Given the description of an element on the screen output the (x, y) to click on. 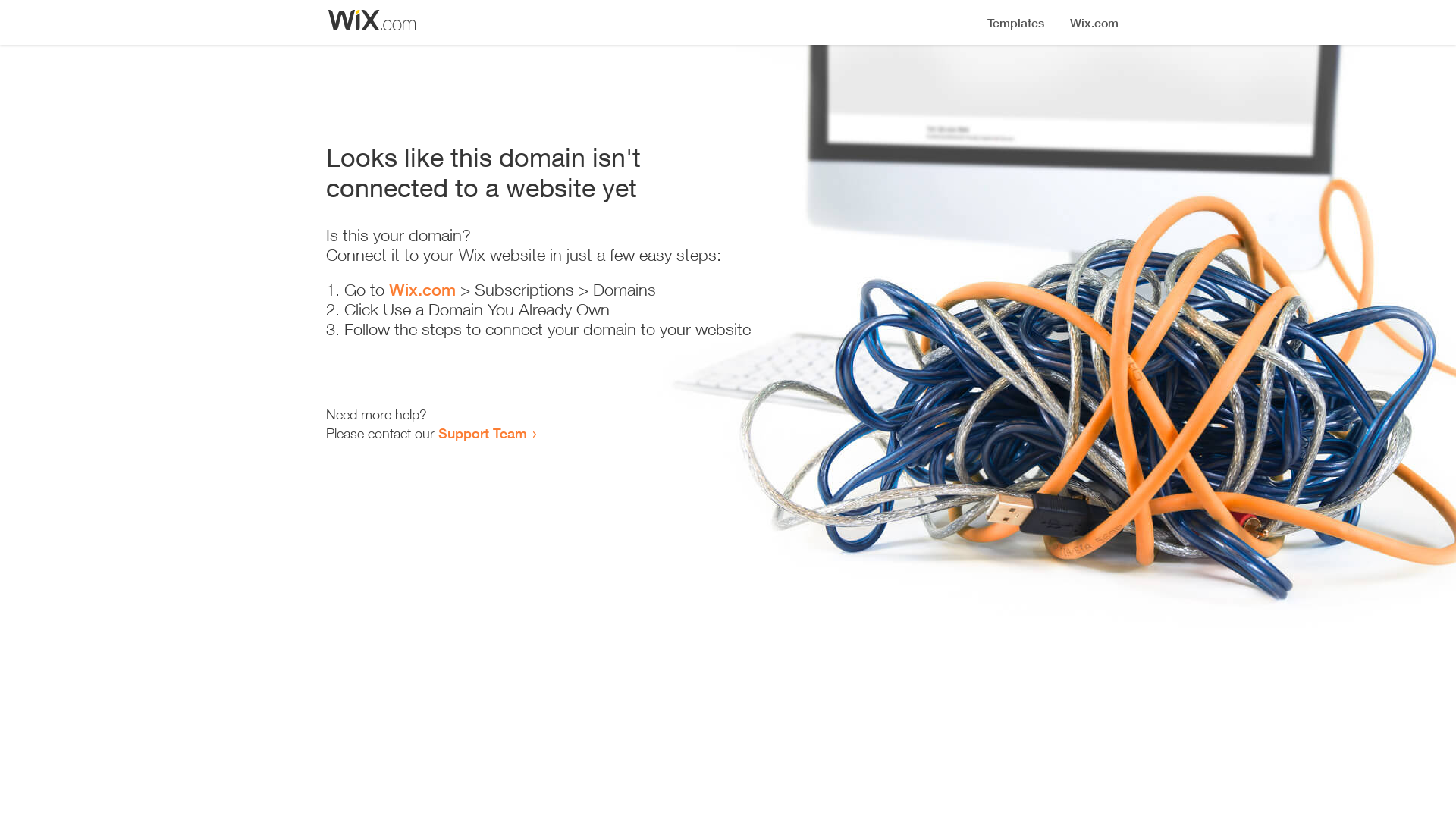
Wix.com Element type: text (422, 289)
Support Team Element type: text (482, 432)
